Given the description of an element on the screen output the (x, y) to click on. 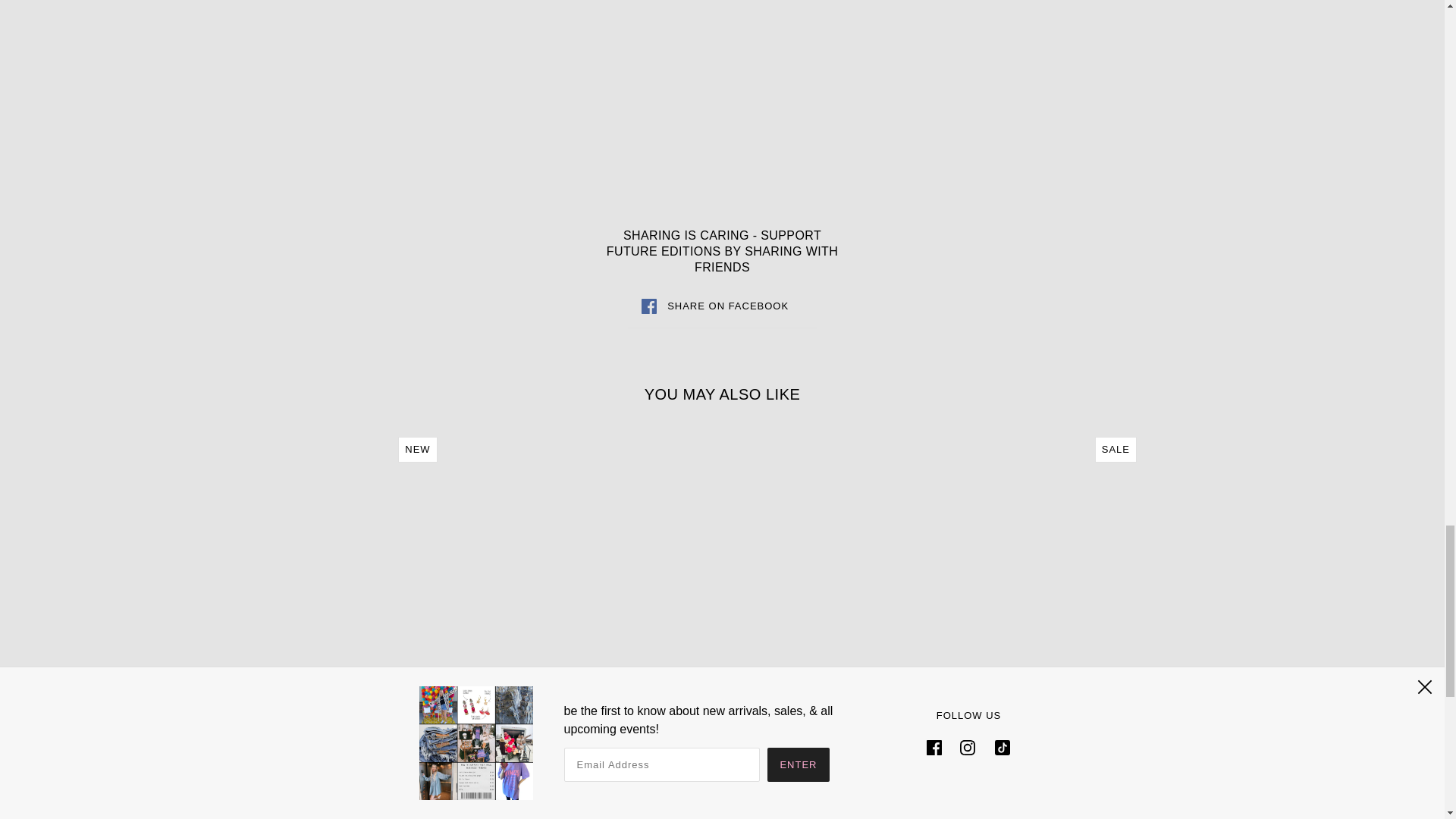
SHARE ON FACEBOOK (721, 306)
